Given the description of an element on the screen output the (x, y) to click on. 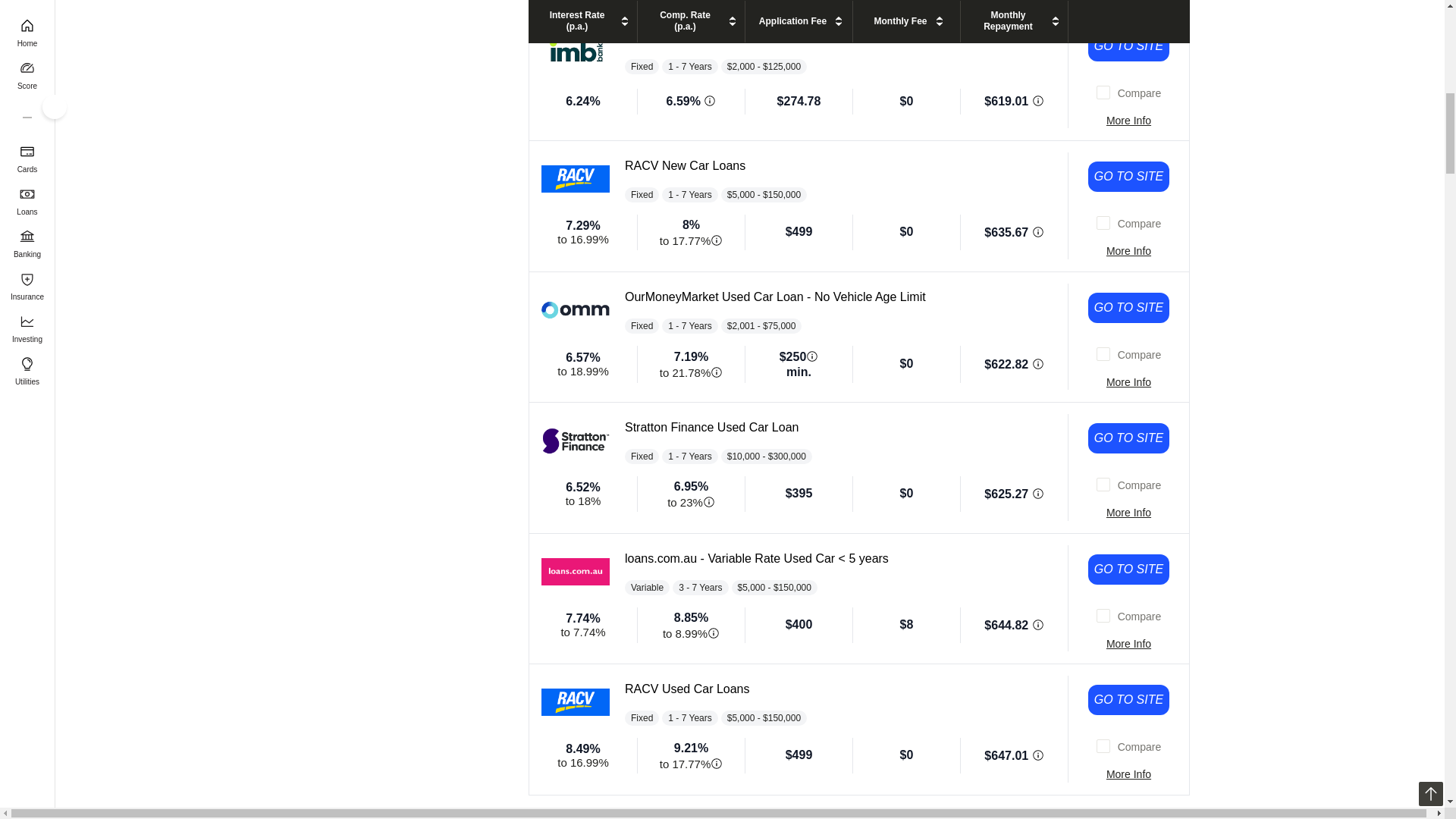
Apply Now For The IMB New Car Loan (1128, 46)
Read More About The IMB New Car Loan (1128, 120)
